Given the description of an element on the screen output the (x, y) to click on. 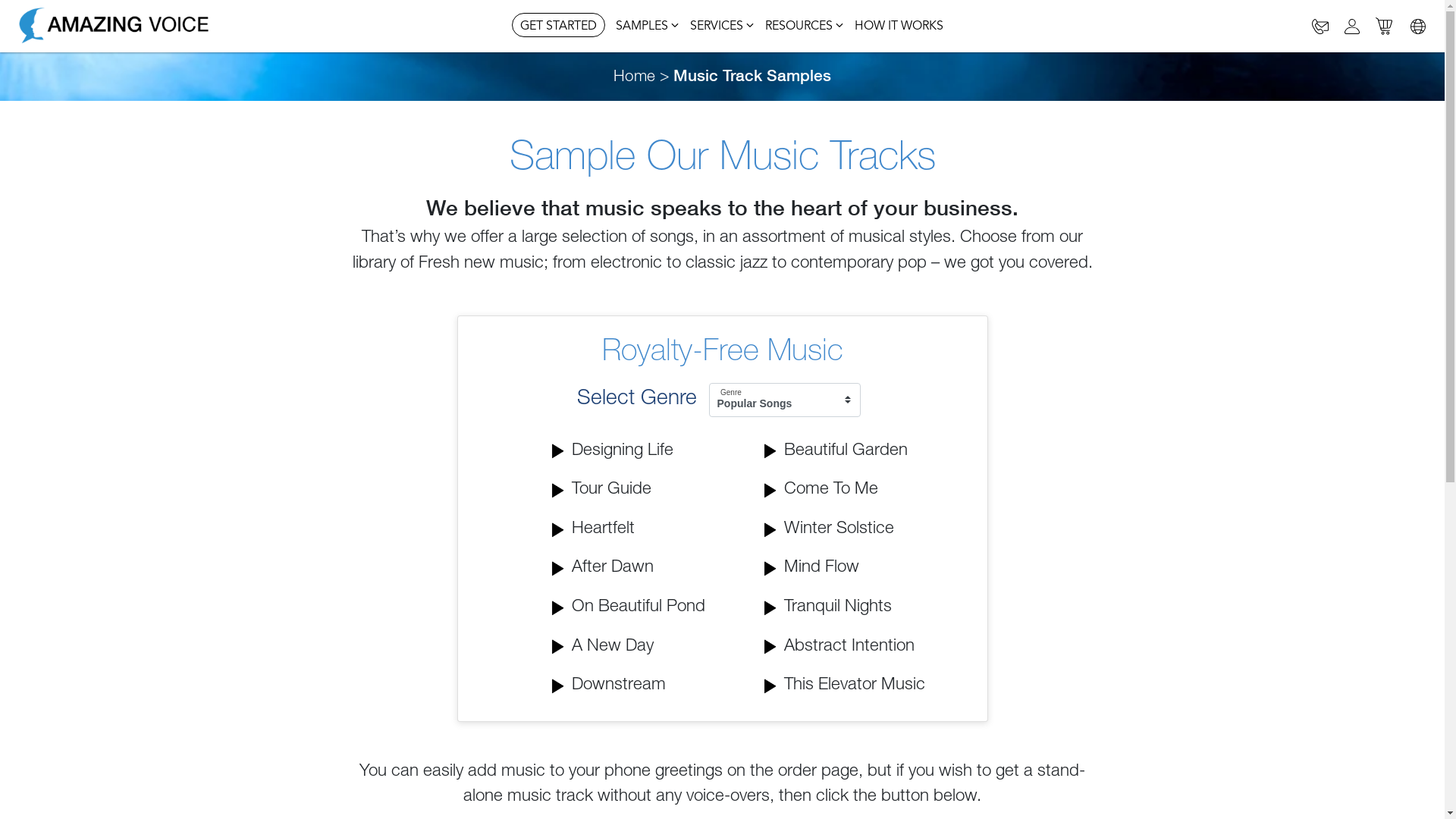
Play Element type: hover (558, 529)
Play Element type: hover (770, 529)
Play Element type: hover (558, 607)
RESOURCES Element type: text (804, 27)
Play Element type: hover (770, 607)
Play Element type: hover (770, 450)
Play Element type: hover (558, 450)
Play Element type: hover (558, 685)
Play Element type: hover (558, 568)
HOW IT WORKS Element type: text (898, 27)
Play Element type: hover (770, 646)
Play Element type: hover (770, 685)
SERVICES Element type: text (722, 27)
Play Element type: hover (558, 490)
Home Element type: text (634, 77)
GET STARTED Element type: text (558, 24)
Play Element type: hover (558, 646)
SAMPLES Element type: text (647, 27)
Play Element type: hover (770, 568)
Play Element type: hover (770, 490)
